Given the description of an element on the screen output the (x, y) to click on. 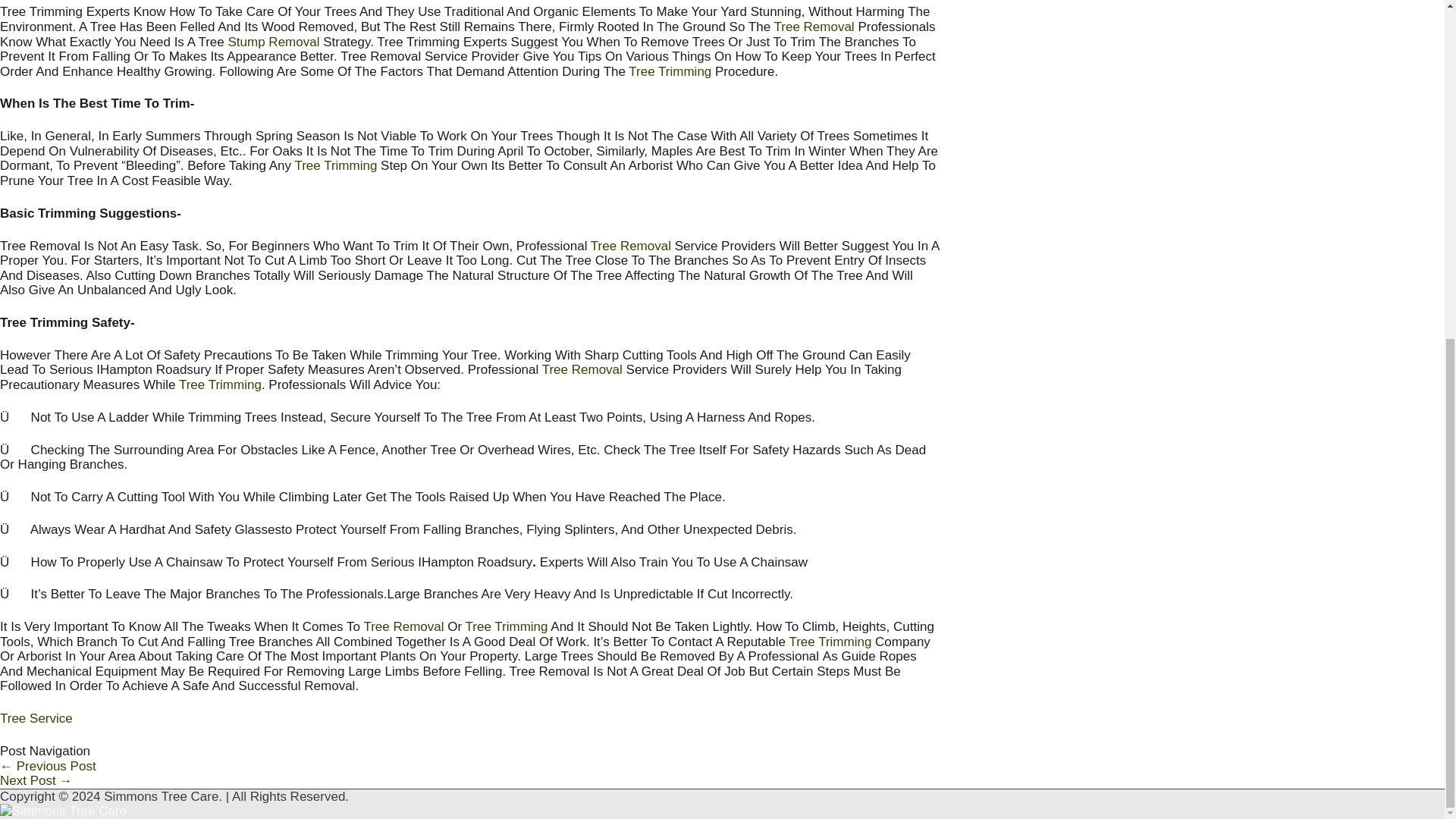
Tree Removal (631, 246)
Tree Trimming (829, 641)
Tree Removal (814, 26)
Tree Trimming (669, 71)
Tree Spotlight: Abies amabilis (35, 780)
Tree Removal (582, 369)
Tree Trimming (335, 165)
Tree Service (36, 718)
Examining Potential Issues with Crabapple Trees (48, 766)
Tree Trimming (506, 626)
Tree Trimming (220, 384)
Stump Removal (274, 42)
Tree Removal (403, 626)
